Given the description of an element on the screen output the (x, y) to click on. 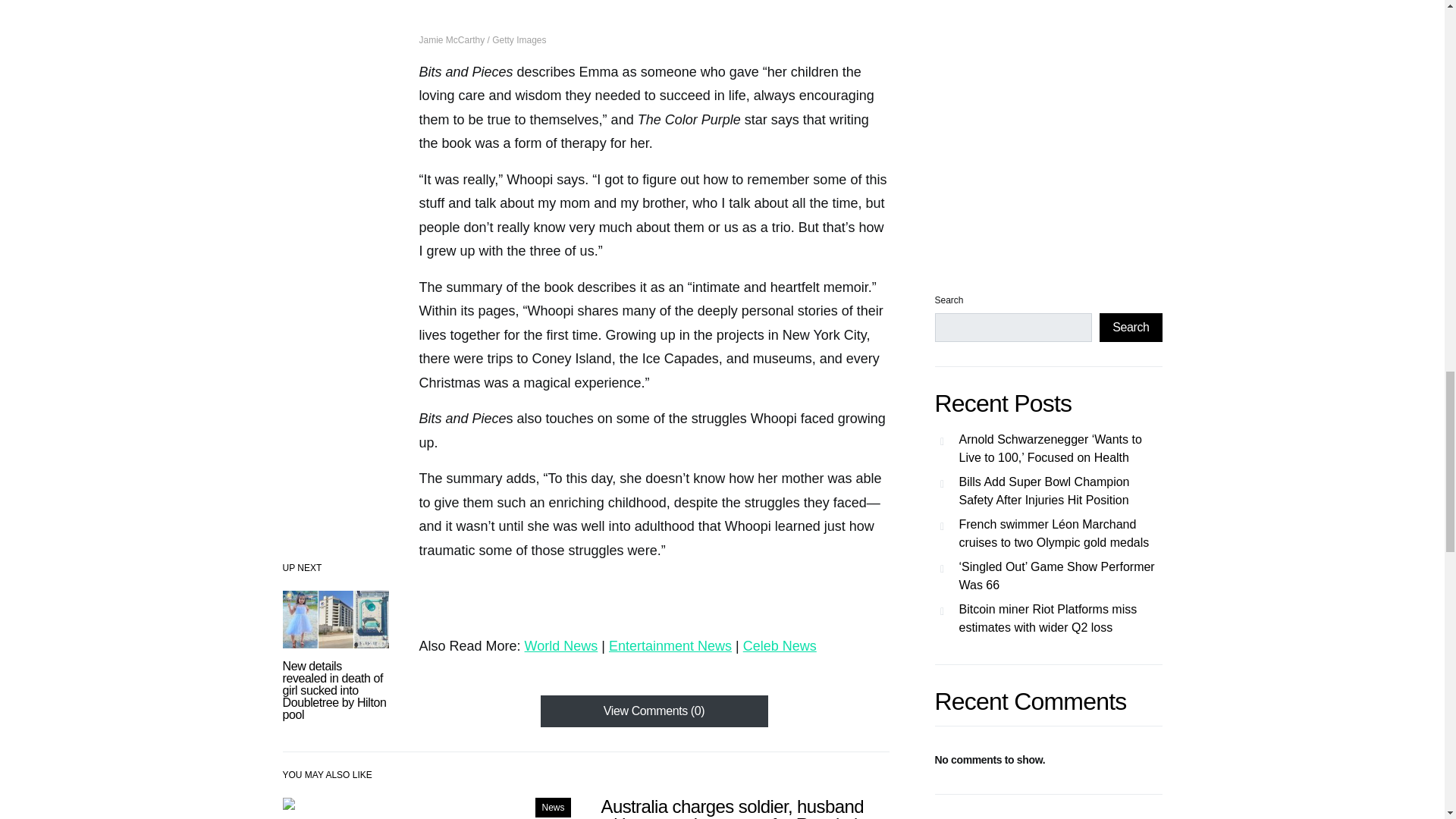
Entertainment News (670, 645)
Celeb News (779, 645)
World News (561, 645)
